Given the description of an element on the screen output the (x, y) to click on. 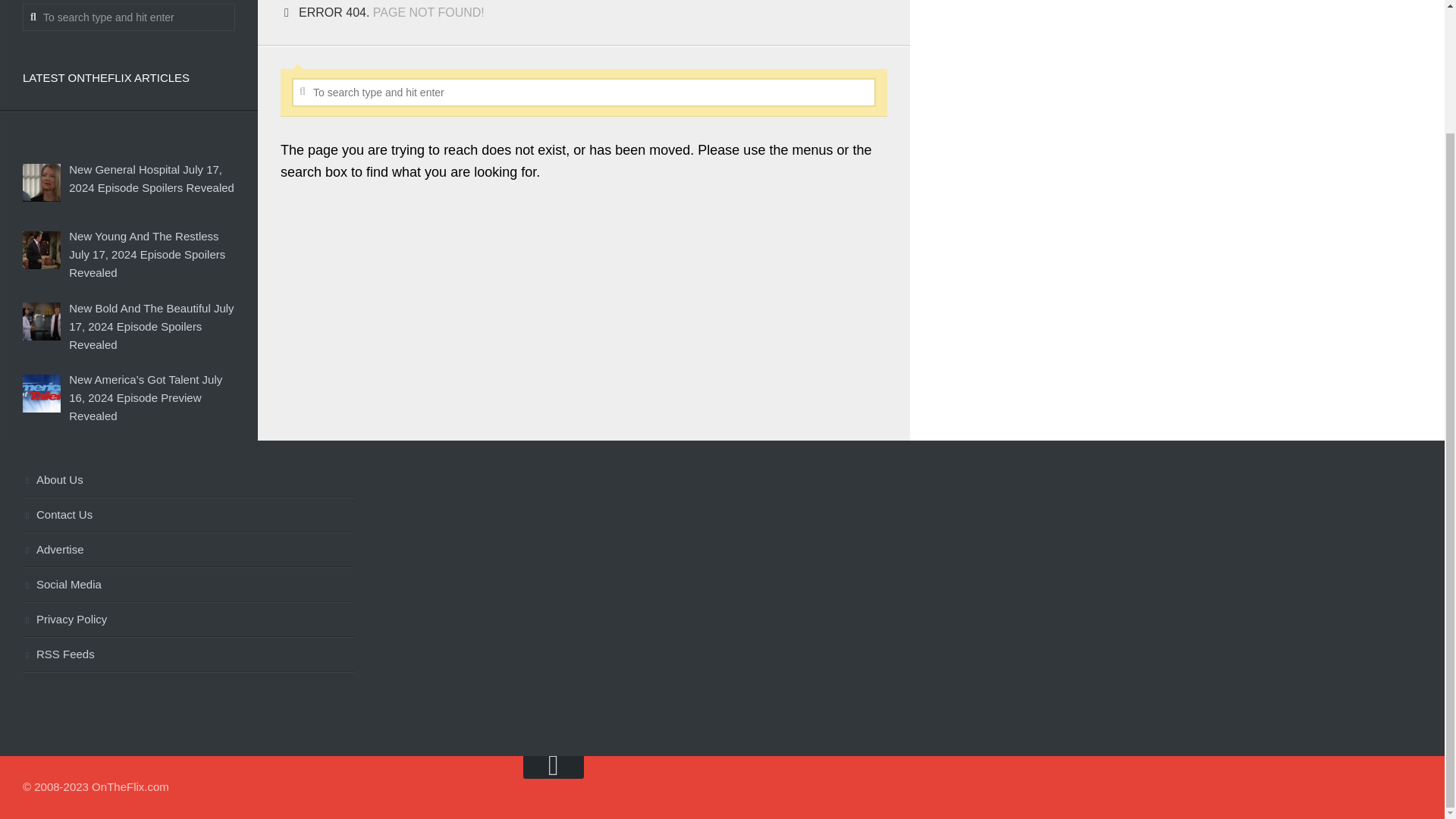
Privacy Policy (188, 620)
RSS Feeds (188, 655)
To search type and hit enter (128, 17)
Contact Us (188, 515)
Social Media (188, 585)
To search type and hit enter (584, 92)
To search type and hit enter (128, 17)
About Us (188, 480)
To search type and hit enter (584, 92)
Advertise (188, 550)
New General Hospital July 17, 2024 Episode Spoilers Revealed (151, 178)
